Given the description of an element on the screen output the (x, y) to click on. 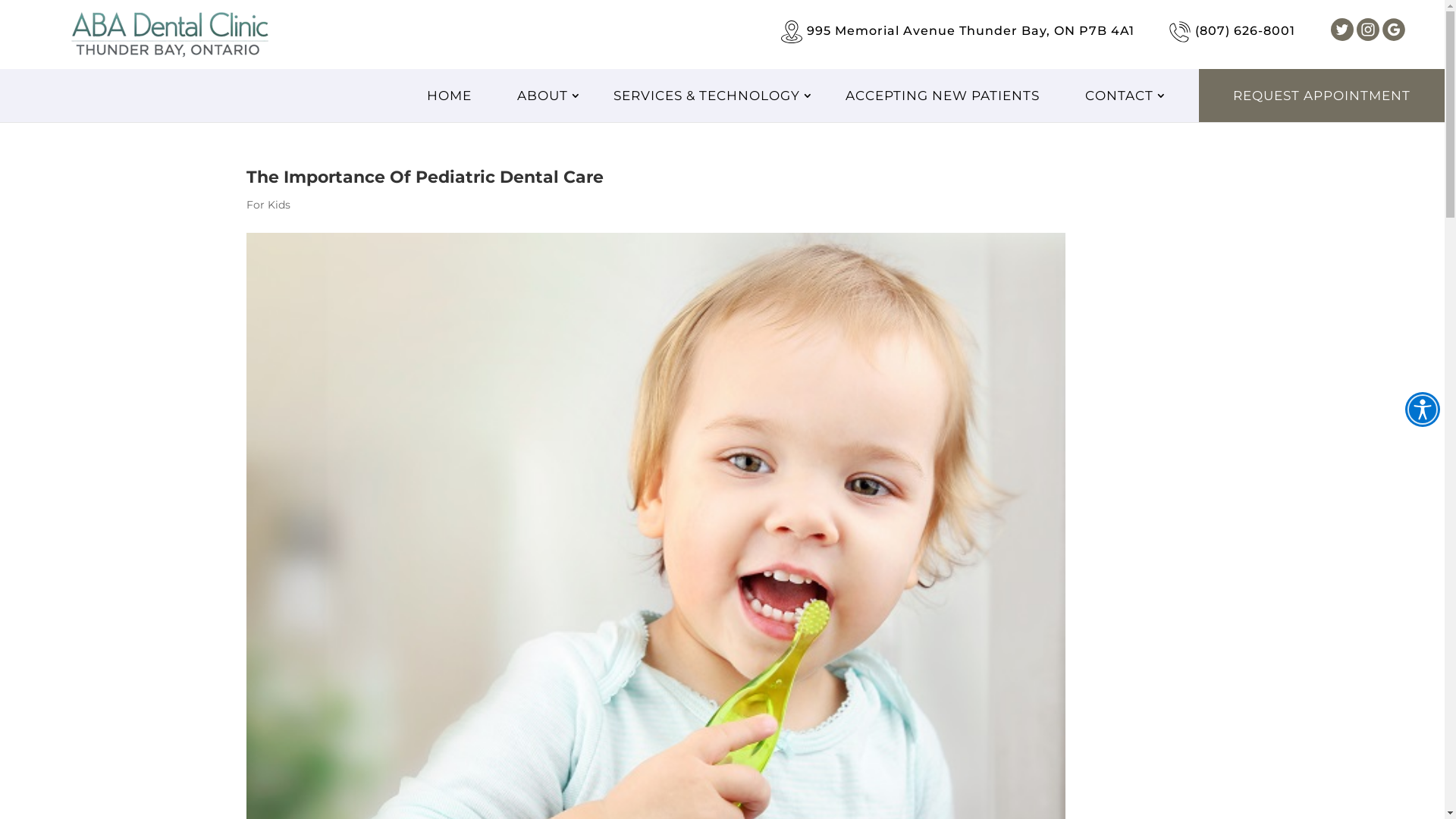
ABOUT Element type: text (549, 95)
CONTACT Element type: text (1126, 95)
For Kids Element type: text (268, 204)
HOME Element type: text (455, 95)
ACCEPTING NEW PATIENTS Element type: text (949, 95)
995 Memorial Avenue Thunder Bay, ON P7B 4A1 Element type: text (970, 30)
(807) 626-8001 Element type: text (1245, 30)
REQUEST APPOINTMENT Element type: text (1321, 95)
SERVICES & TECHNOLOGY Element type: text (713, 95)
